Given the description of an element on the screen output the (x, y) to click on. 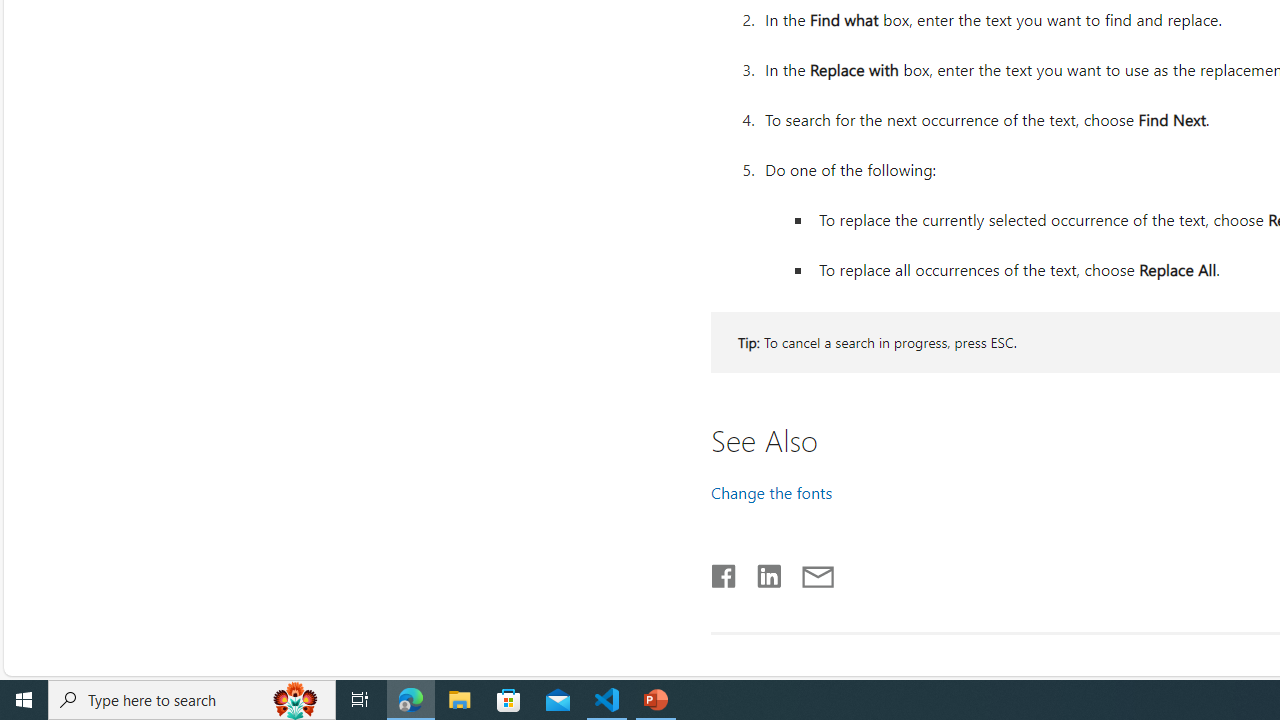
Change the fonts (771, 491)
Share on LinkedIn (760, 572)
Share by email (808, 572)
Share on Facebook (724, 572)
LinkedIn (768, 572)
Facebook (723, 572)
Email (817, 572)
